Given the description of an element on the screen output the (x, y) to click on. 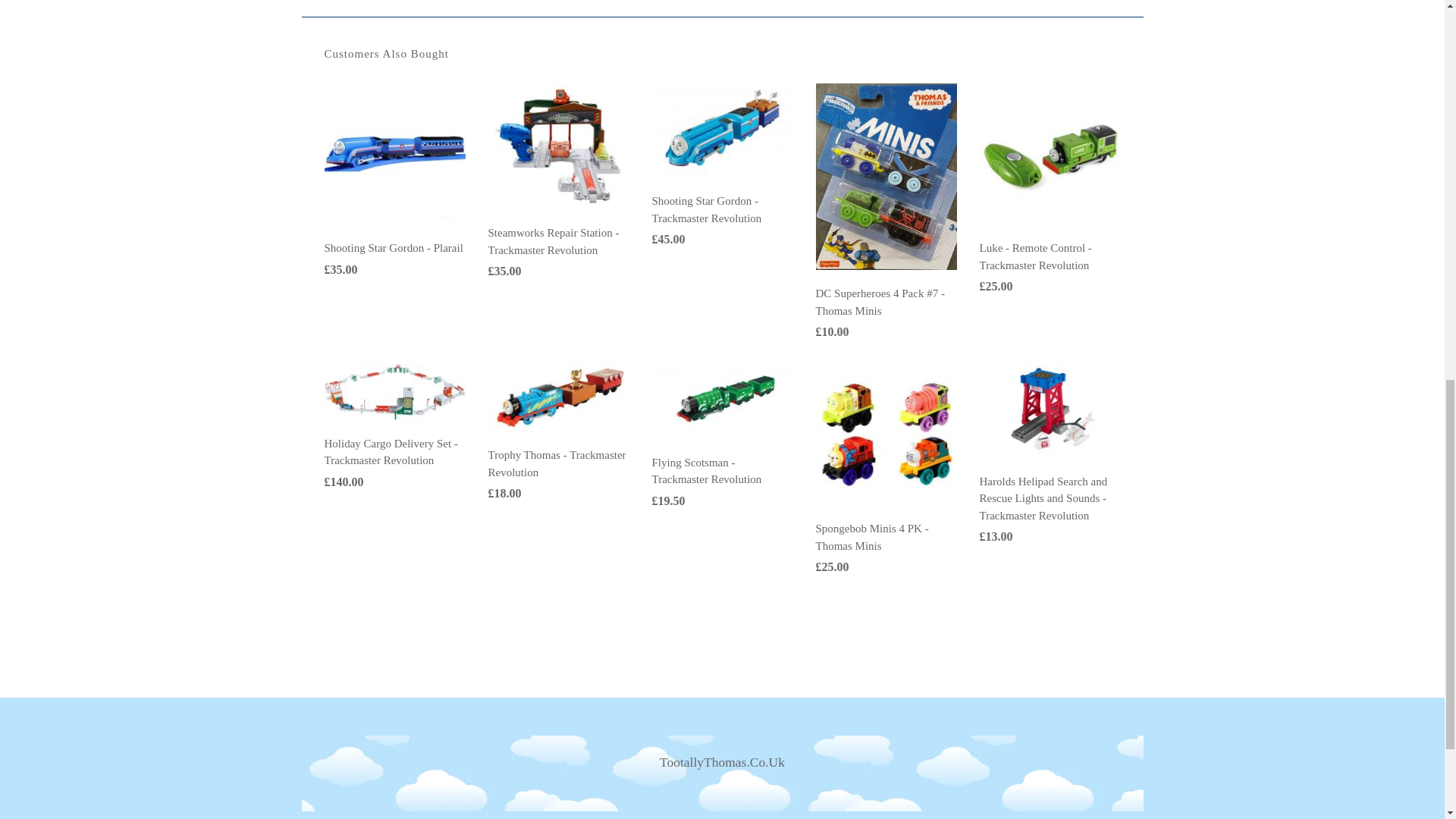
Shooting Star Gordon - Plarail (394, 152)
Trophy Thomas - Trackmaster Revolution  (556, 463)
Steamworks Repair Station - Trackmaster Revolution (557, 145)
Trophy Thomas - Trackmaster Revolution  (557, 396)
Shooting Star Gordon - Plarail (393, 247)
Shooting Star Gordon - Trackmaster Revolution  (706, 209)
Holiday Cargo Delivery Set - Trackmaster Revolution (394, 390)
Luke - Remote Control - Trackmaster Revolution (1050, 152)
Flying Scotsman - Trackmaster Revolution (722, 399)
Flying Scotsman - Trackmaster Revolution (706, 471)
Luke - Remote Control - Trackmaster Revolution (1035, 256)
Shooting Star Gordon - Trackmaster Revolution  (722, 129)
        Spongebob Minis 4 PK - Thomas Minis  (871, 537)
Steamworks Repair Station - Trackmaster Revolution (553, 241)
        Spongebob Minis 4 PK - Thomas Minis  (885, 433)
